Given the description of an element on the screen output the (x, y) to click on. 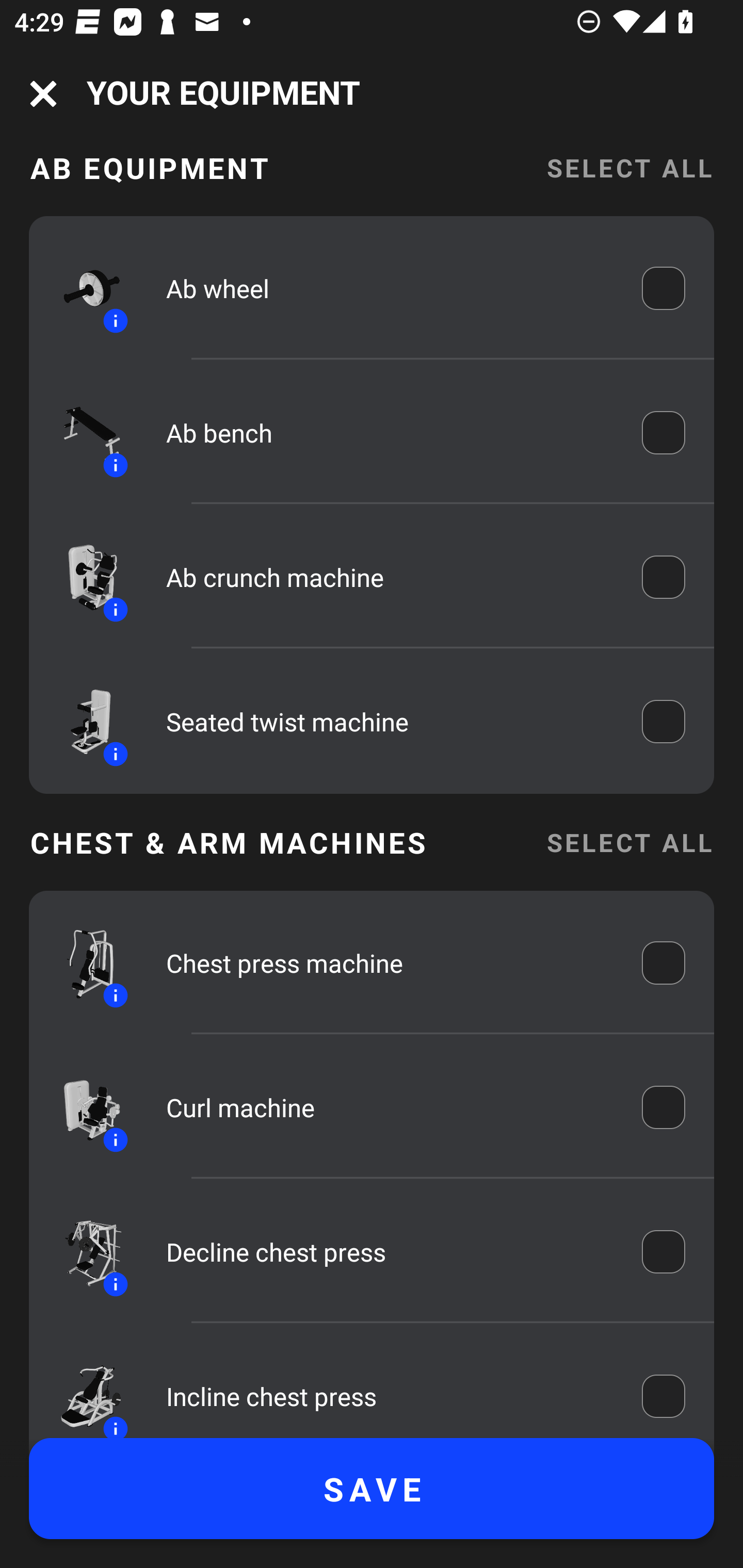
Navigation icon (43, 93)
SELECT ALL (629, 177)
Equipment icon Information icon (82, 287)
Ab wheel (389, 288)
Equipment icon Information icon (82, 432)
Ab bench (389, 432)
Equipment icon Information icon (82, 577)
Ab crunch machine (389, 576)
Equipment icon Information icon (82, 721)
Seated twist machine (389, 721)
SELECT ALL (629, 842)
Equipment icon Information icon (82, 963)
Chest press machine (389, 963)
Equipment icon Information icon (82, 1107)
Curl machine (389, 1107)
Equipment icon Information icon (82, 1251)
Decline chest press (389, 1251)
Equipment icon Information icon (82, 1389)
Incline chest press (389, 1395)
SAVE (371, 1488)
